Given the description of an element on the screen output the (x, y) to click on. 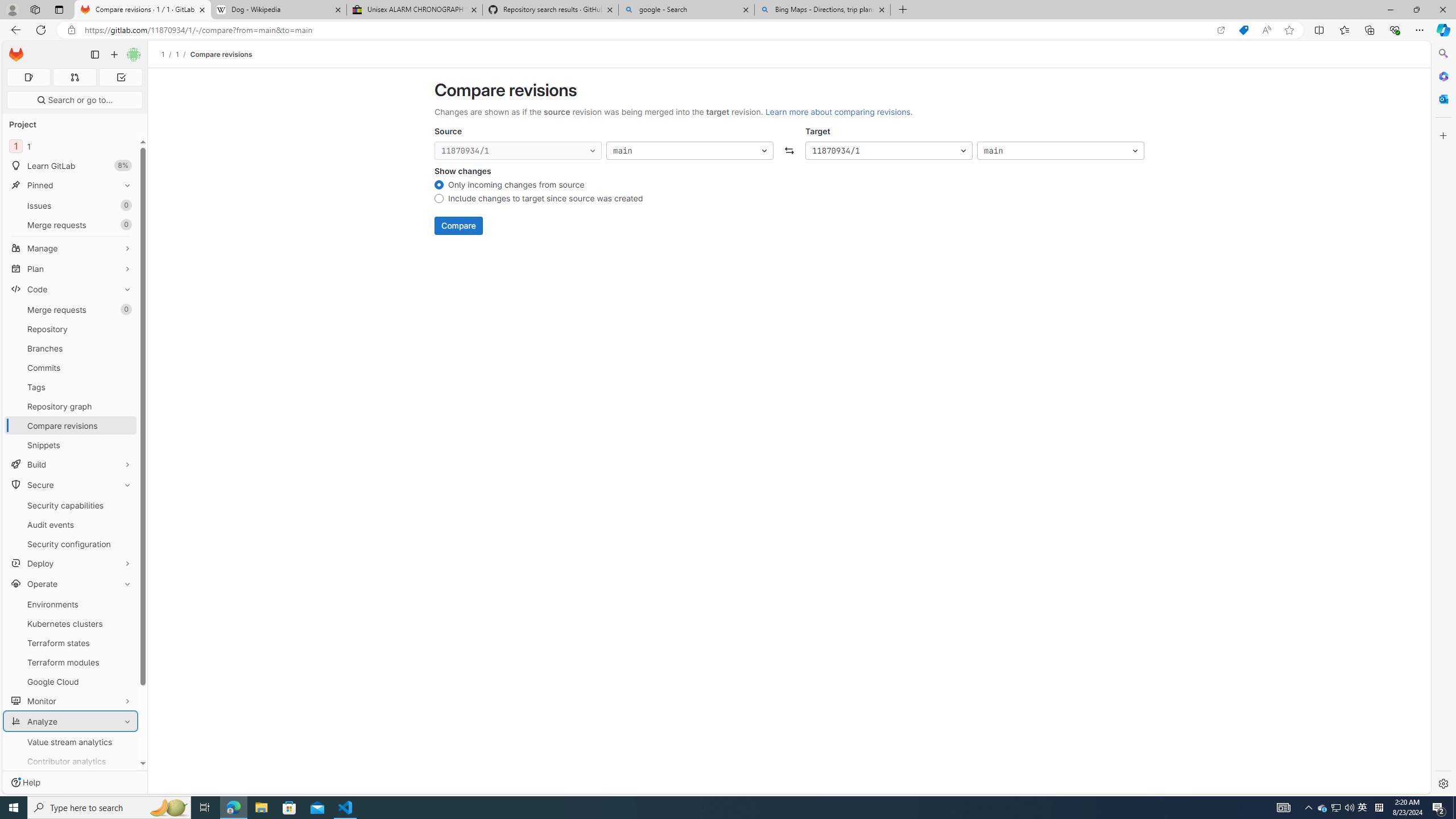
Homepage (16, 54)
Skip to main content (13, 49)
Include changes to target since source was created (438, 199)
Value stream analytics (70, 741)
Tags (70, 386)
Pin CI/CD analytics (124, 780)
Value stream analytics (70, 741)
Security configuration (70, 543)
1 1 (70, 145)
Snippets (70, 444)
Help (25, 782)
